Given the description of an element on the screen output the (x, y) to click on. 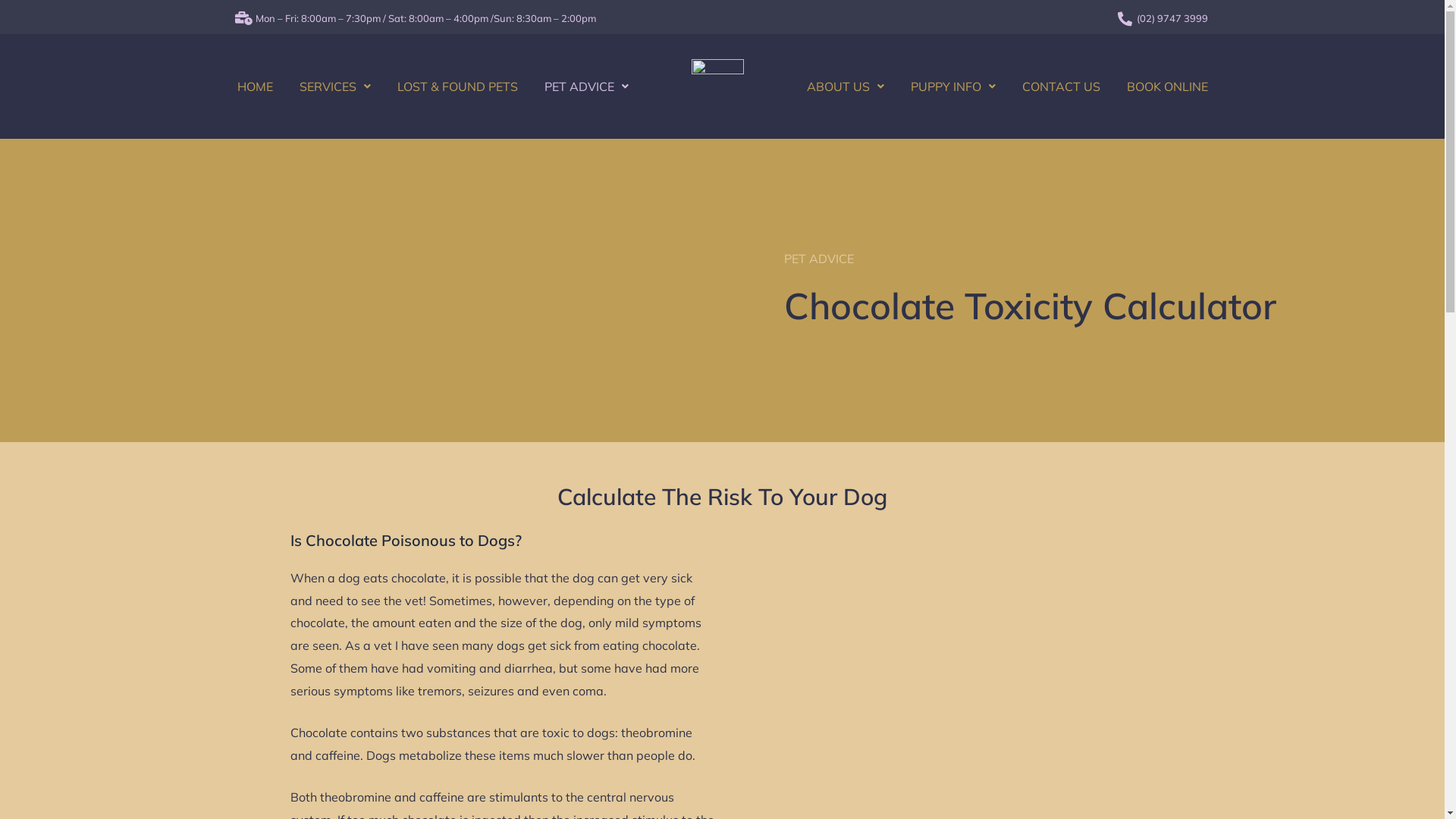
BOOK ONLINE Element type: text (1167, 86)
SERVICES Element type: text (334, 86)
HOME Element type: text (254, 86)
CONTACT US Element type: text (1061, 86)
LOST & FOUND PETS Element type: text (457, 86)
ABOUT US Element type: text (845, 86)
PET ADVICE Element type: text (586, 86)
(02) 9747 3999 Element type: text (1171, 18)
PUPPY INFO Element type: text (952, 86)
